Given the description of an element on the screen output the (x, y) to click on. 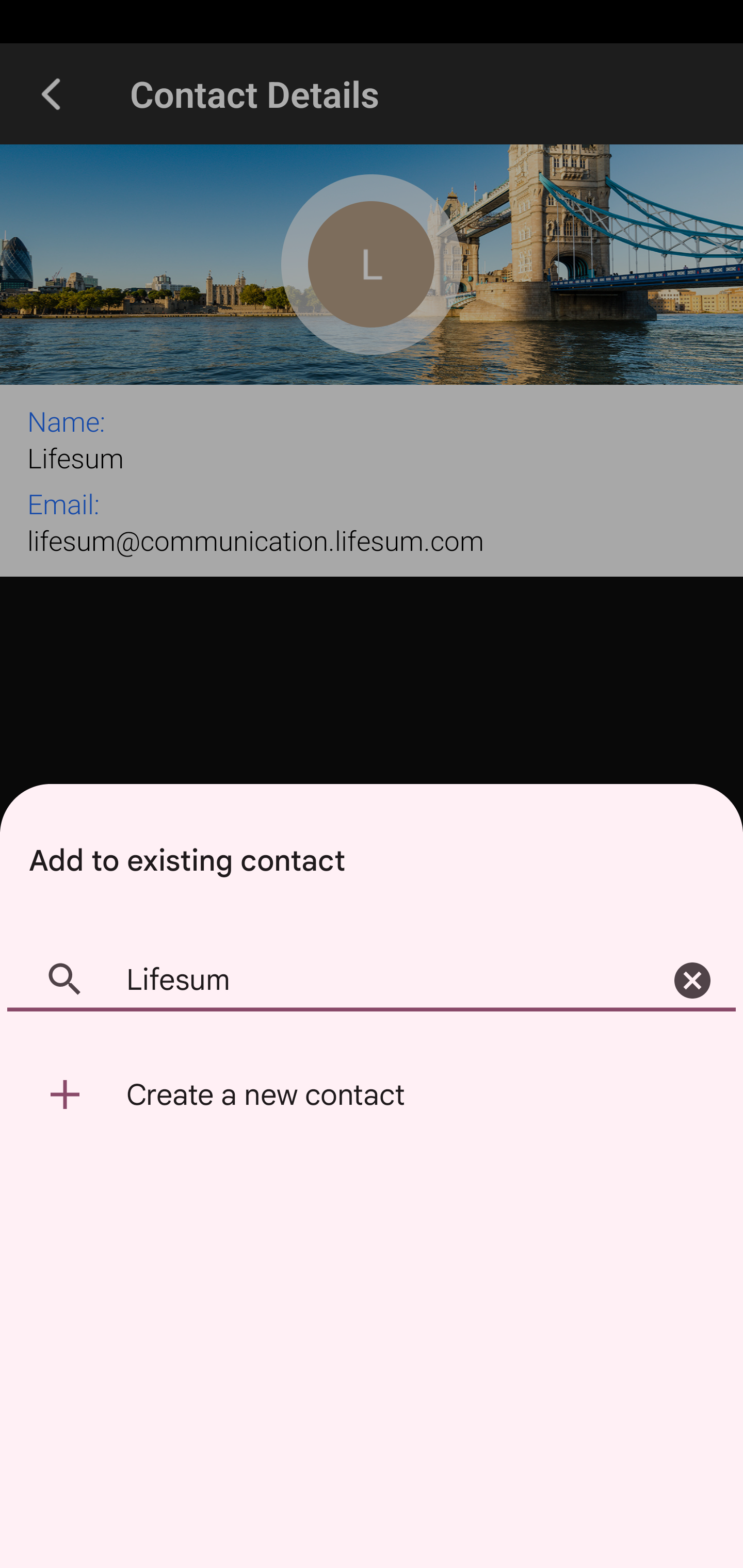
Lifesum (371, 980)
Clear search (692, 980)
Create a new contact (371, 1094)
